Given the description of an element on the screen output the (x, y) to click on. 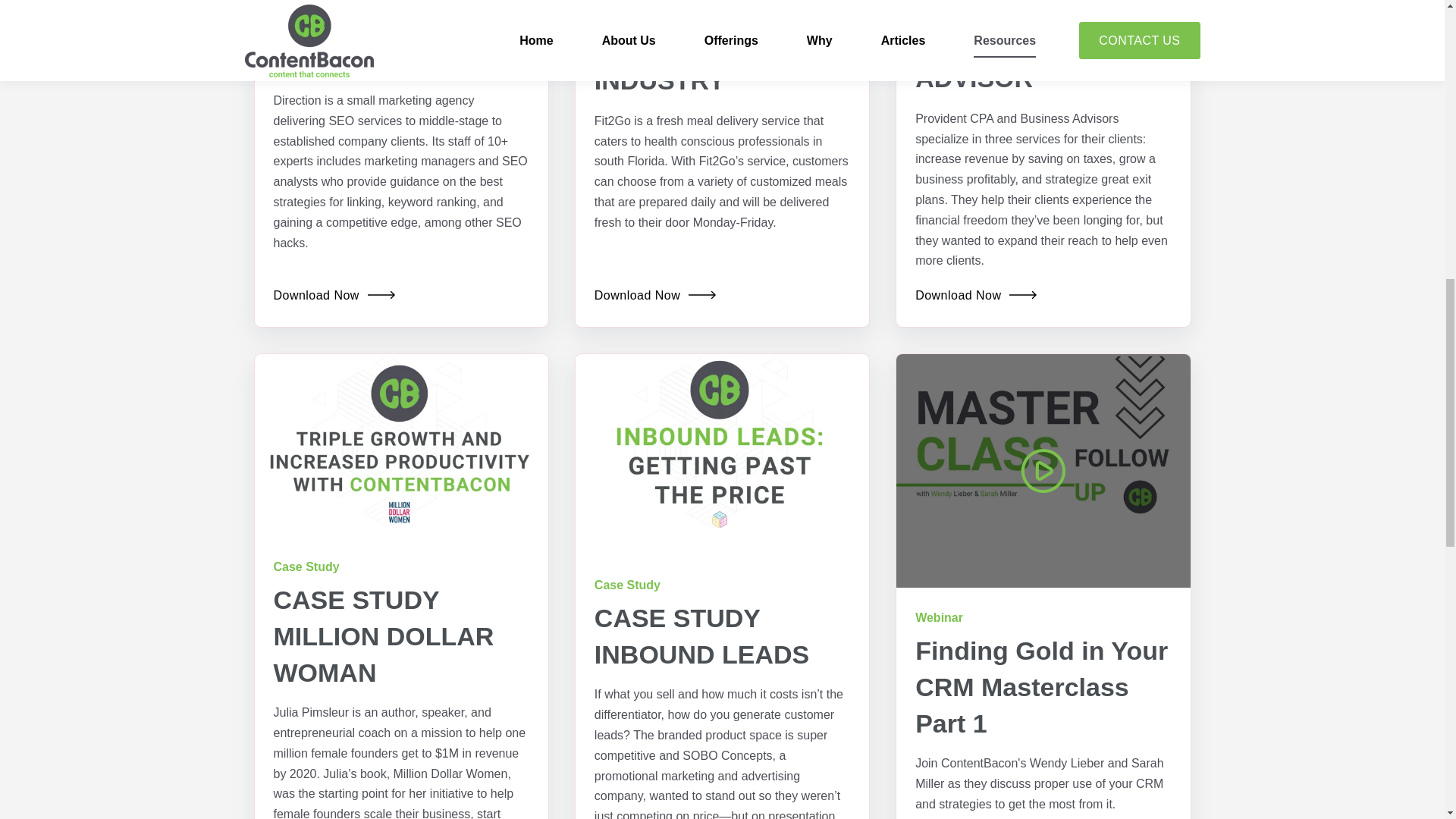
Download Now (975, 296)
Download Now (333, 296)
Download Now (655, 296)
